Given the description of an element on the screen output the (x, y) to click on. 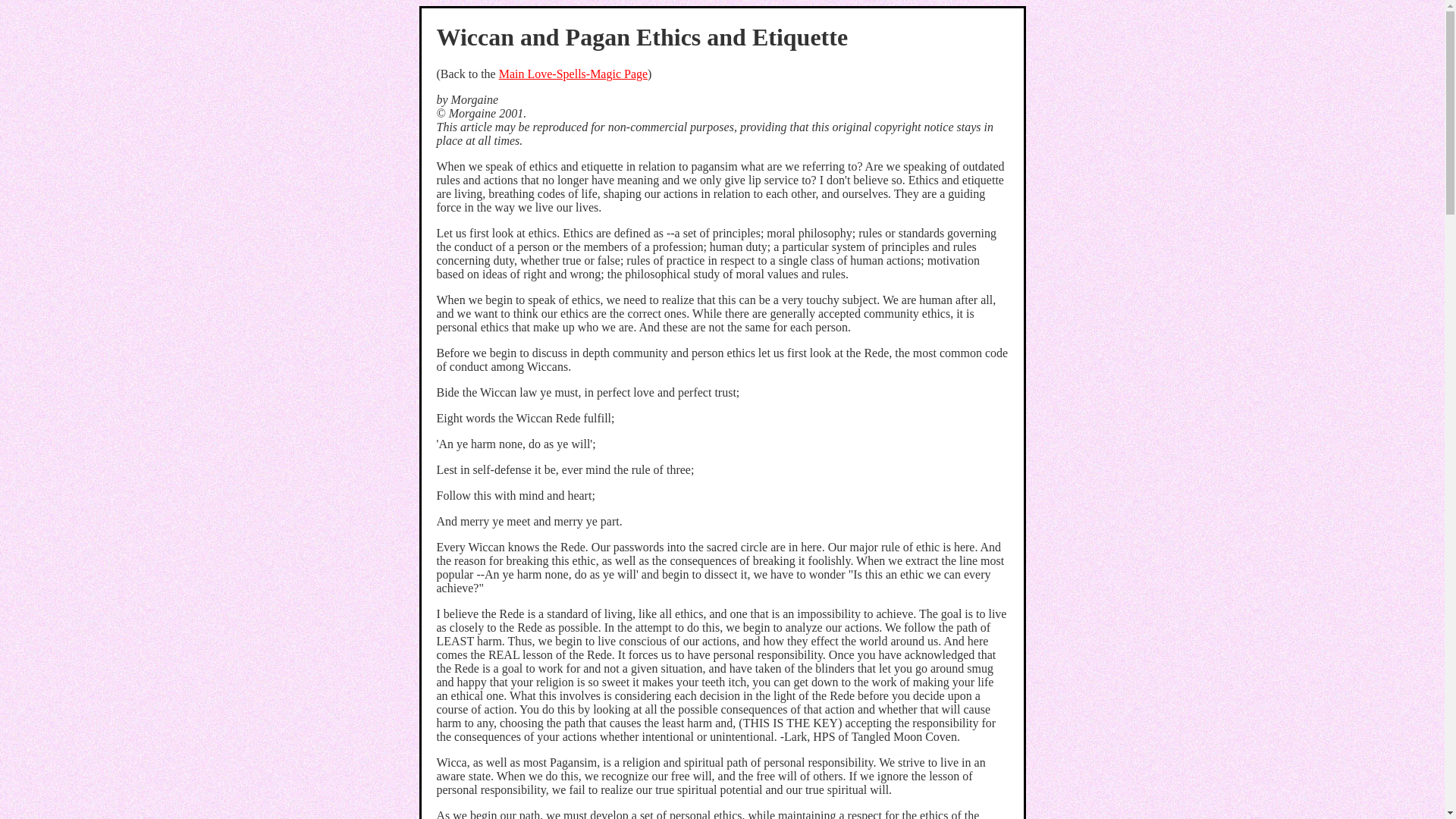
Main Love-Spells-Magic Page (573, 73)
